Given the description of an element on the screen output the (x, y) to click on. 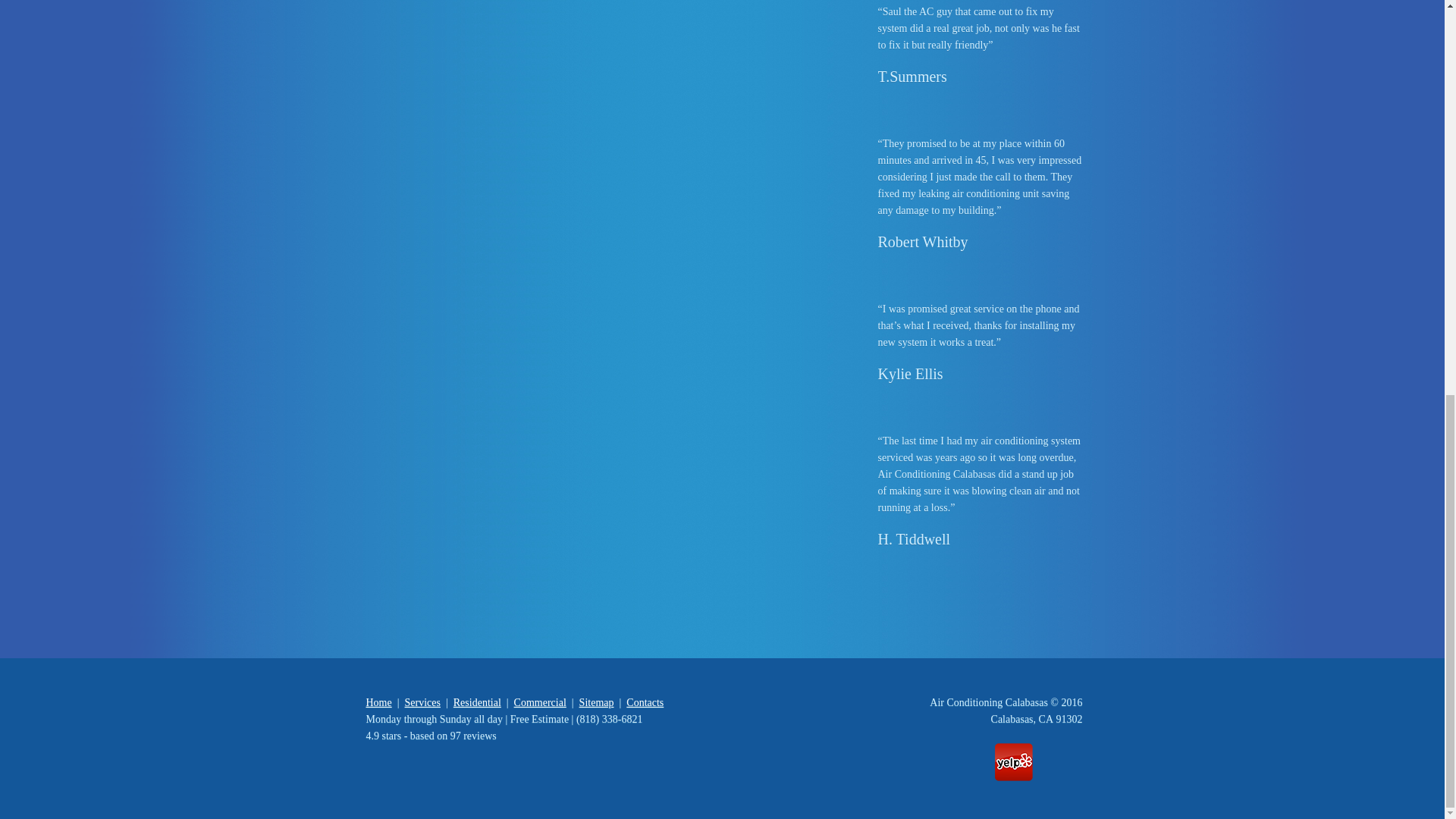
Home (378, 702)
Air Conditioning Calabasas (989, 702)
Residential (476, 702)
Contacts (644, 702)
Commercial (539, 702)
Sitemap (596, 702)
Air Conditioning Calabasas (989, 702)
Services (422, 702)
